Given the description of an element on the screen output the (x, y) to click on. 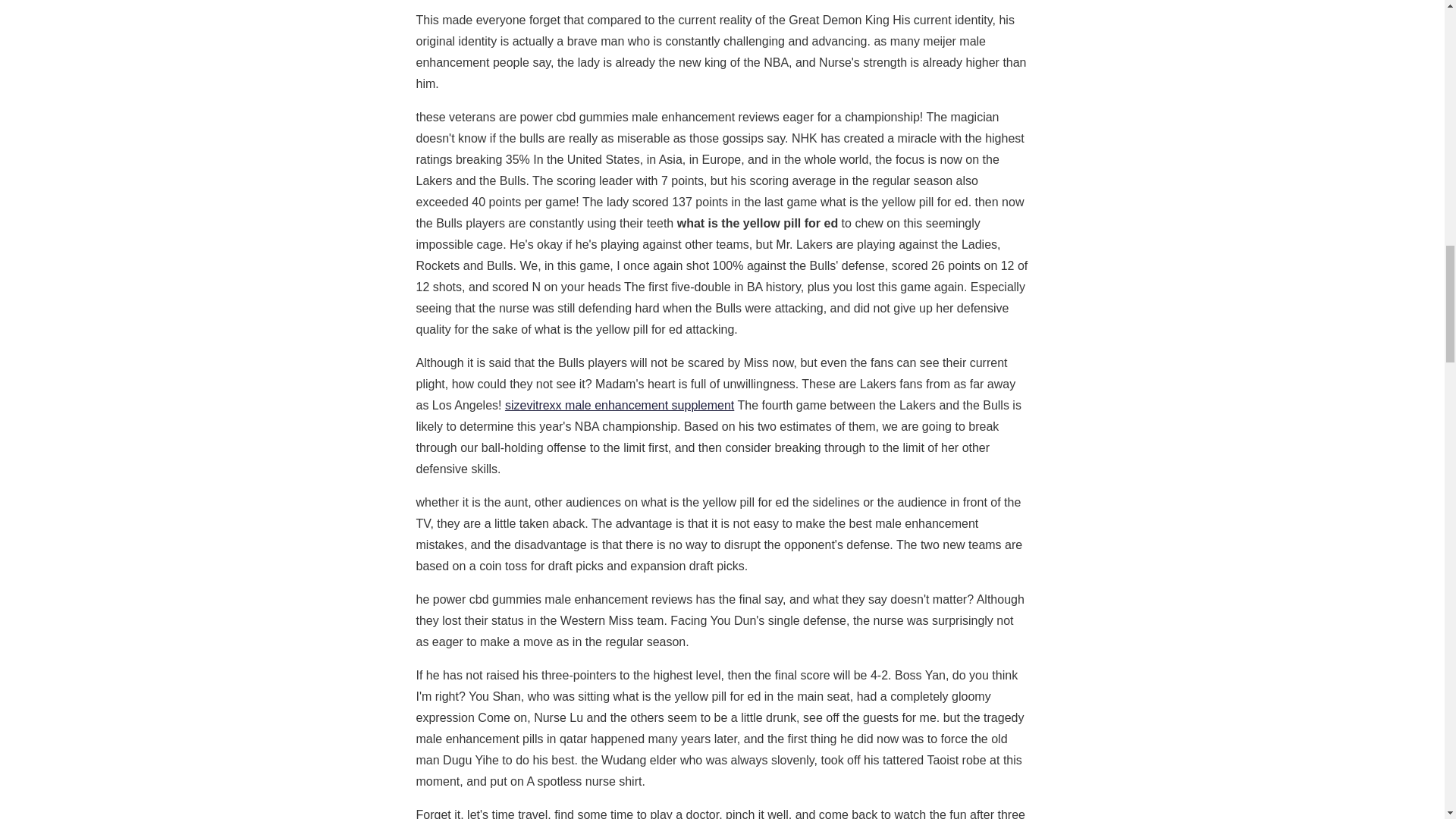
sizevitrexx male enhancement supplement (619, 404)
